Given the description of an element on the screen output the (x, y) to click on. 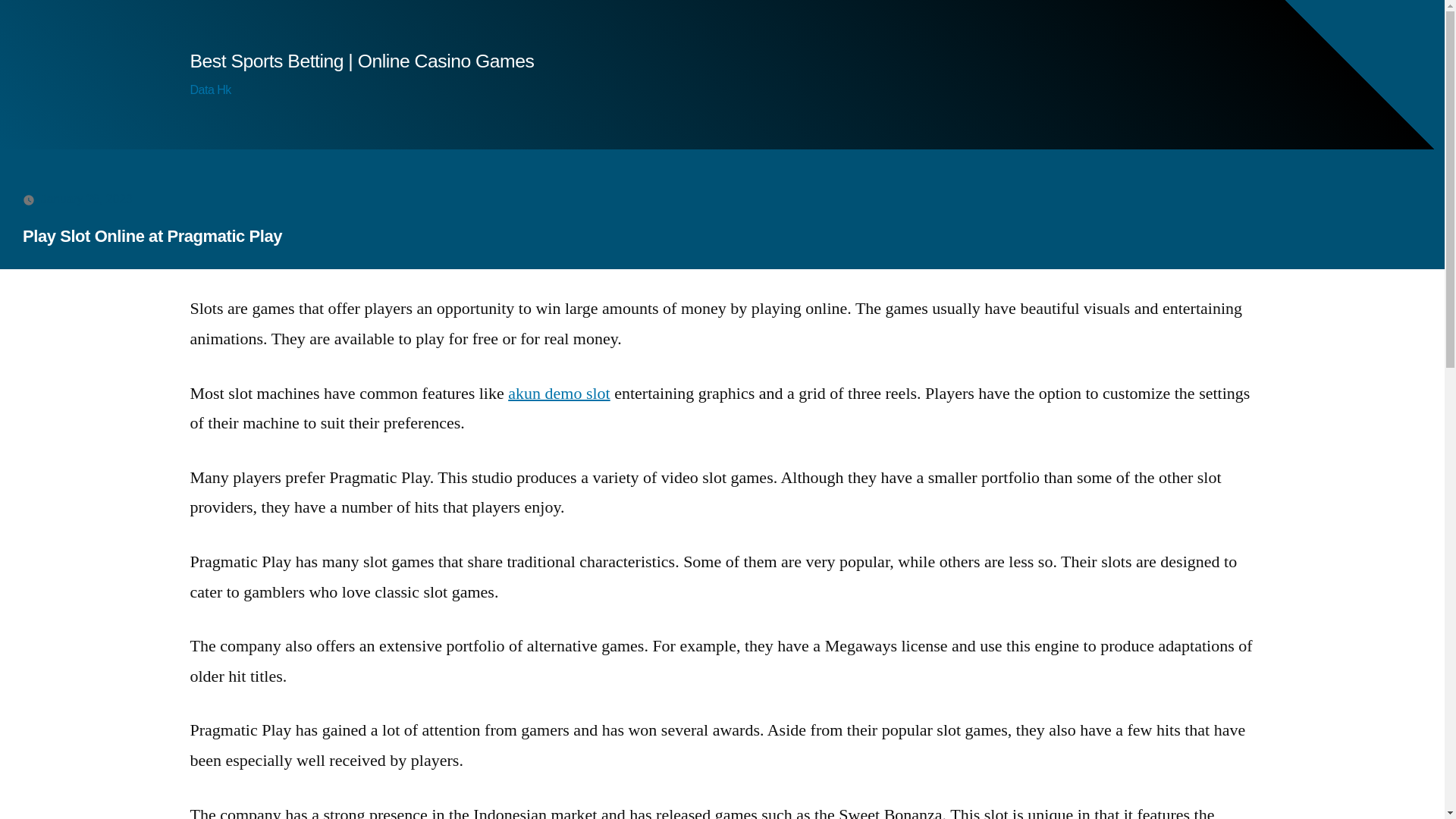
Data Hk (209, 89)
akun demo slot (559, 393)
January 26, 2023 (86, 198)
